Given the description of an element on the screen output the (x, y) to click on. 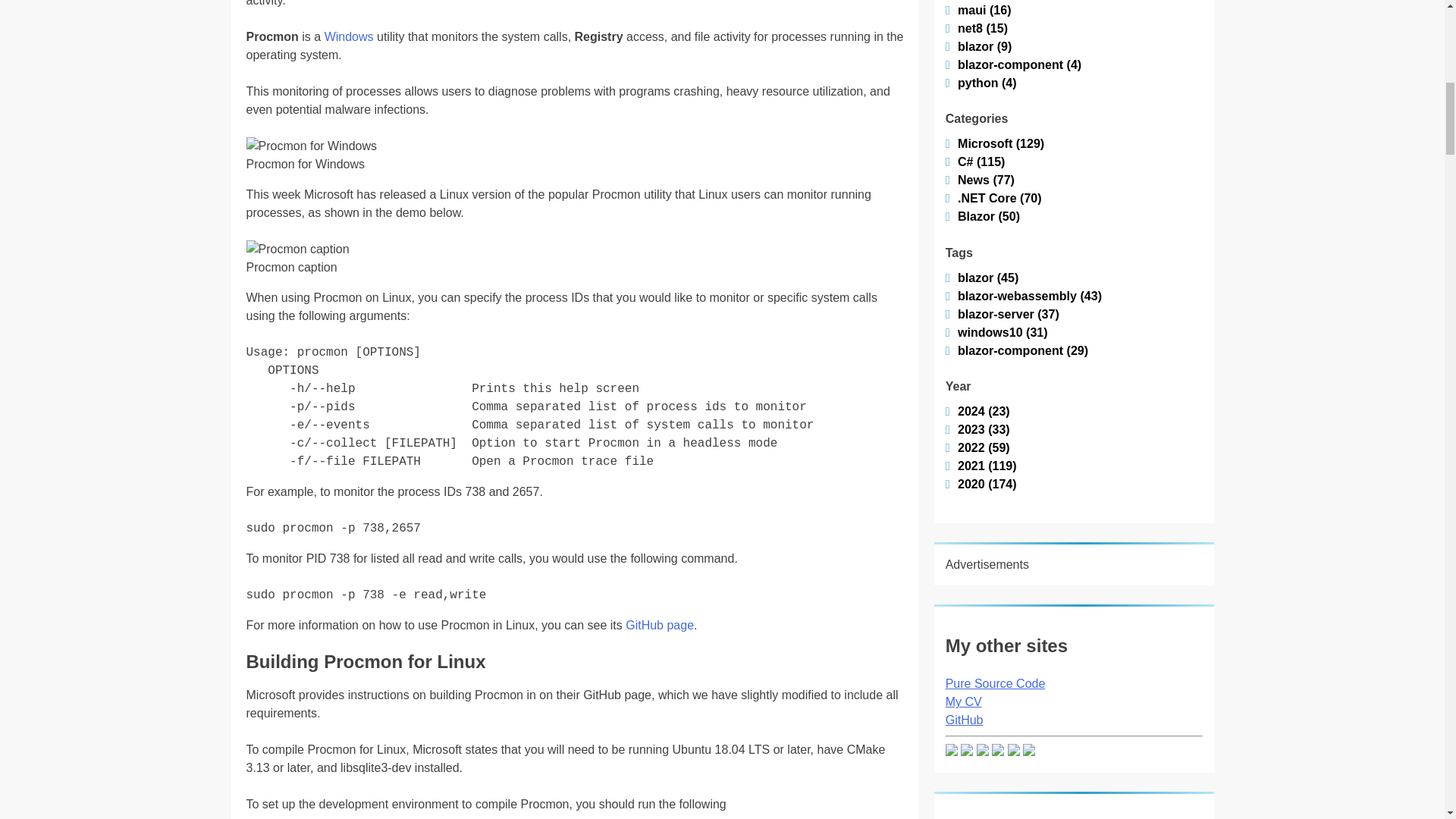
Windows (349, 36)
GitHub page (660, 625)
